Given the description of an element on the screen output the (x, y) to click on. 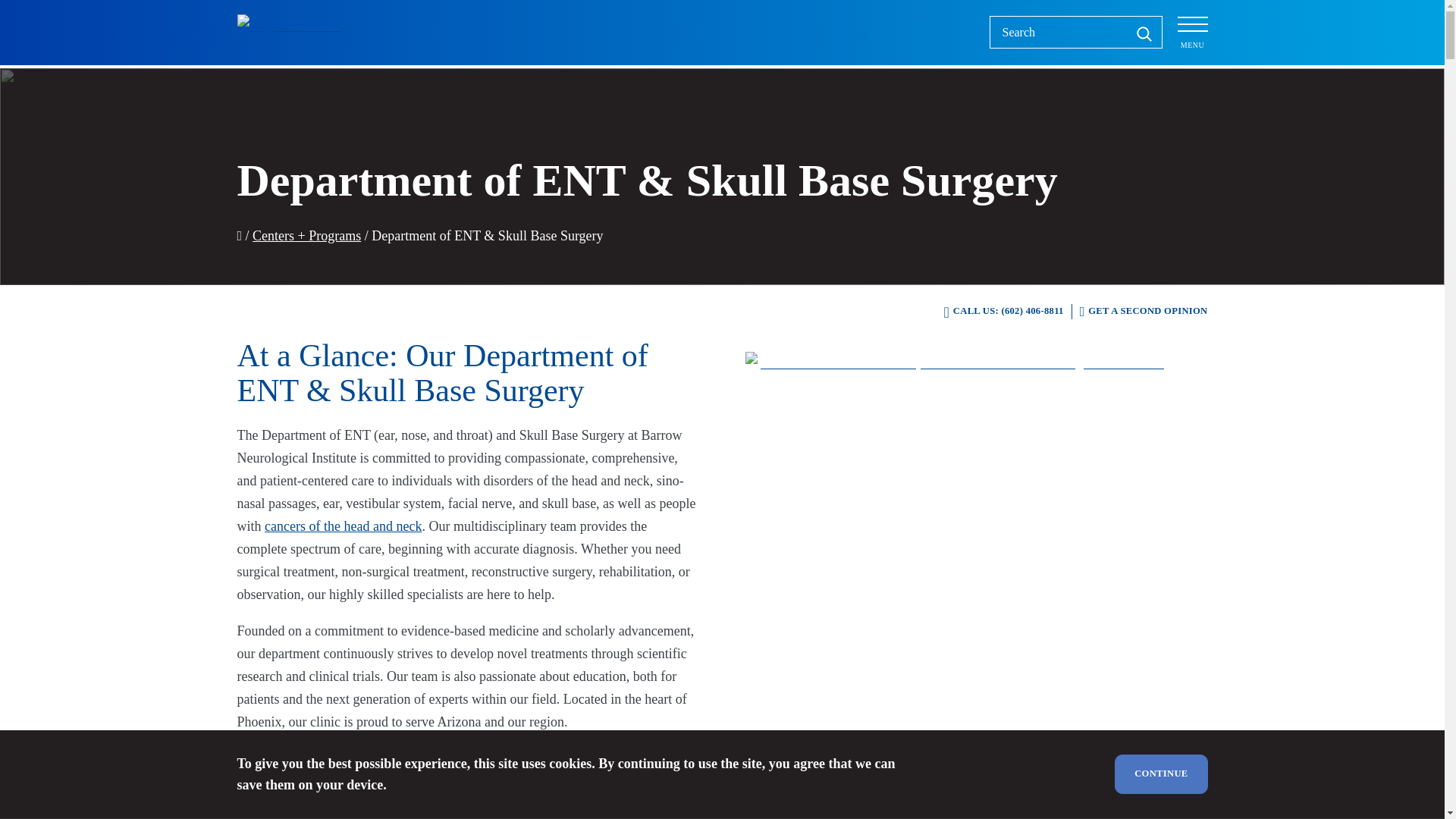
Search for (1074, 31)
MENU (1191, 32)
SEARCH (1143, 31)
Barrow Neurological Institute (296, 32)
